Given the description of an element on the screen output the (x, y) to click on. 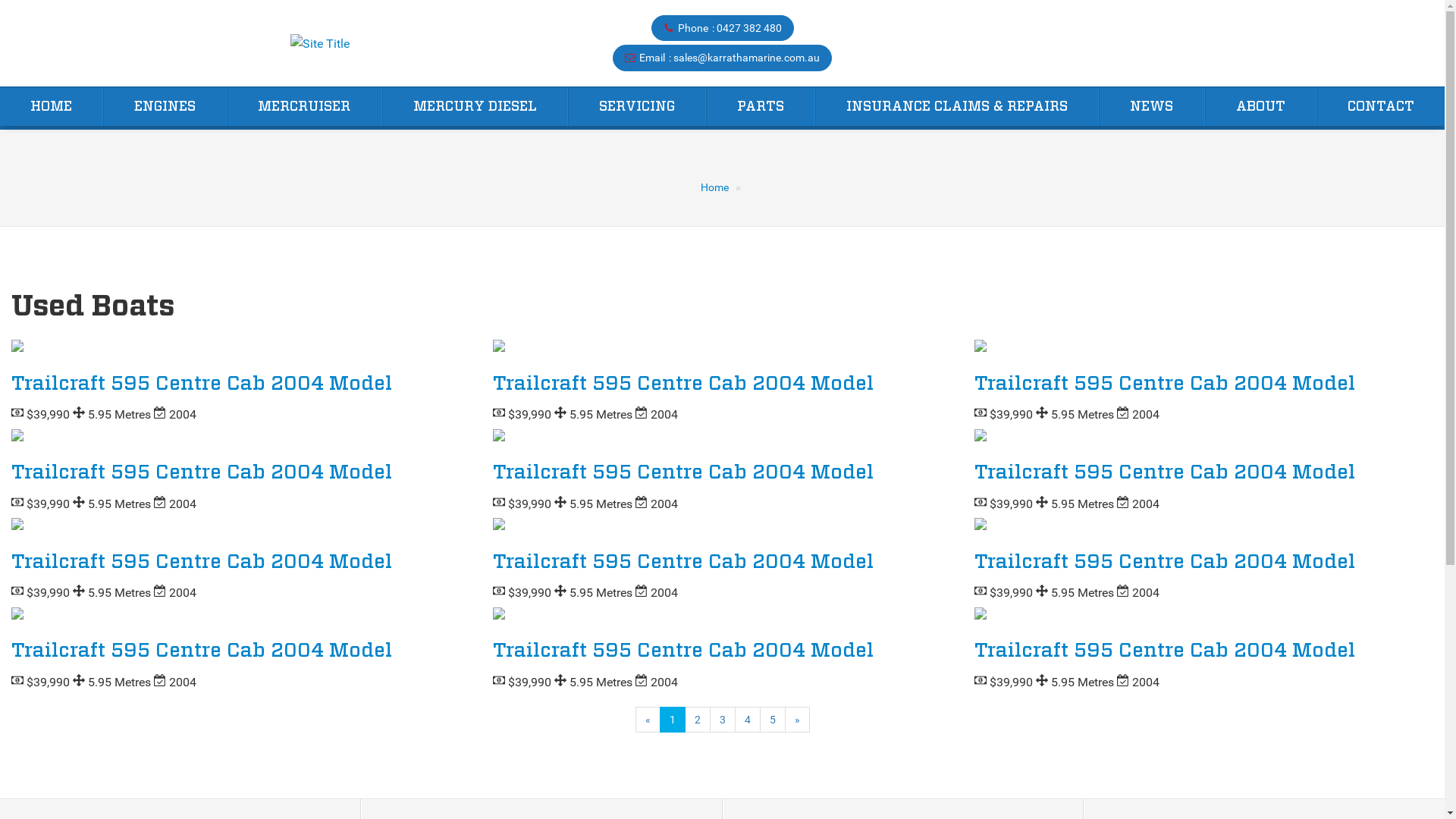
ENGINES Element type: text (164, 106)
0427 382 480 Element type: text (748, 27)
Trailcraft 595 Centre Cab 2004 Model Element type: text (682, 561)
Trailcraft 595 Centre Cab 2004 Model Element type: text (1164, 383)
4 Element type: text (746, 719)
CONTACT Element type: text (1380, 106)
sales@karrathamarine.com.au Element type: text (746, 57)
5 Element type: text (772, 719)
ABOUT Element type: text (1260, 106)
NEWS Element type: text (1151, 106)
Trailcraft 595 Centre Cab 2004 Model Element type: text (201, 561)
Trailcraft 595 Centre Cab 2004 Model Element type: text (201, 383)
Trailcraft 595 Centre Cab 2004 Model Element type: text (682, 383)
PARTS Element type: text (760, 106)
1
(current) Element type: text (672, 719)
Trailcraft 595 Centre Cab 2004 Model Element type: text (682, 650)
Trailcraft 595 Centre Cab 2004 Model Element type: text (201, 472)
2 Element type: text (696, 719)
Trailcraft 595 Centre Cab 2004 Model Element type: text (1164, 650)
Trailcraft 595 Centre Cab 2004 Model Element type: text (682, 472)
INSURANCE CLAIMS & REPAIRS Element type: text (956, 106)
Trailcraft 595 Centre Cab 2004 Model Element type: text (1164, 472)
MERCURY DIESEL Element type: text (474, 106)
3 Element type: text (722, 719)
Karratha Marine Element type: hover (318, 43)
MERCRUISER Element type: text (303, 106)
Trailcraft 595 Centre Cab 2004 Model Element type: text (1164, 561)
SERVICING Element type: text (636, 106)
HOME Element type: text (51, 106)
Home Element type: text (714, 187)
Trailcraft 595 Centre Cab 2004 Model Element type: text (201, 650)
